Given the description of an element on the screen output the (x, y) to click on. 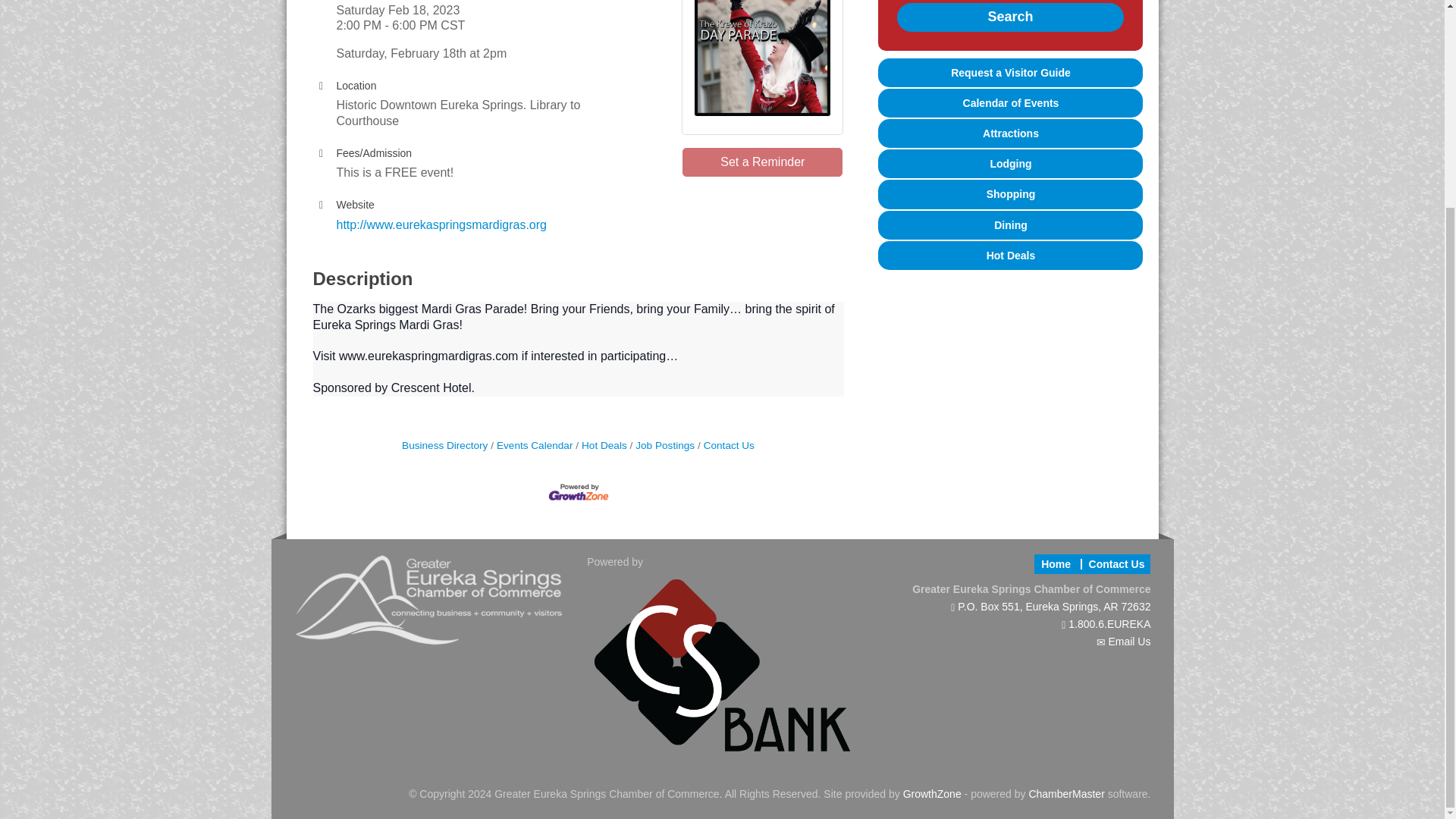
Set a Reminder (762, 162)
